Given the description of an element on the screen output the (x, y) to click on. 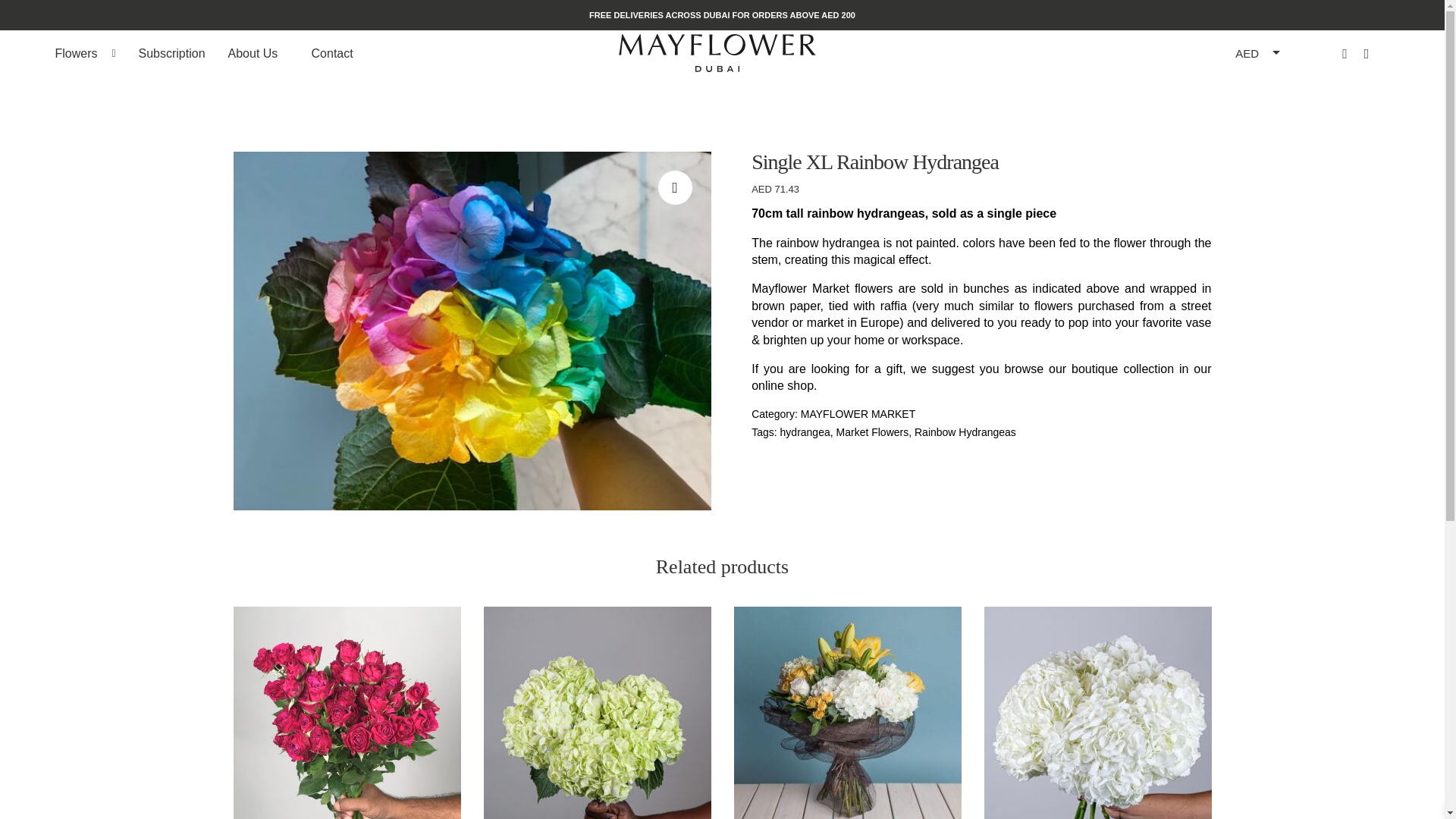
Subscription (172, 52)
Flowers (85, 52)
About Us (257, 52)
Contact (341, 52)
